Given the description of an element on the screen output the (x, y) to click on. 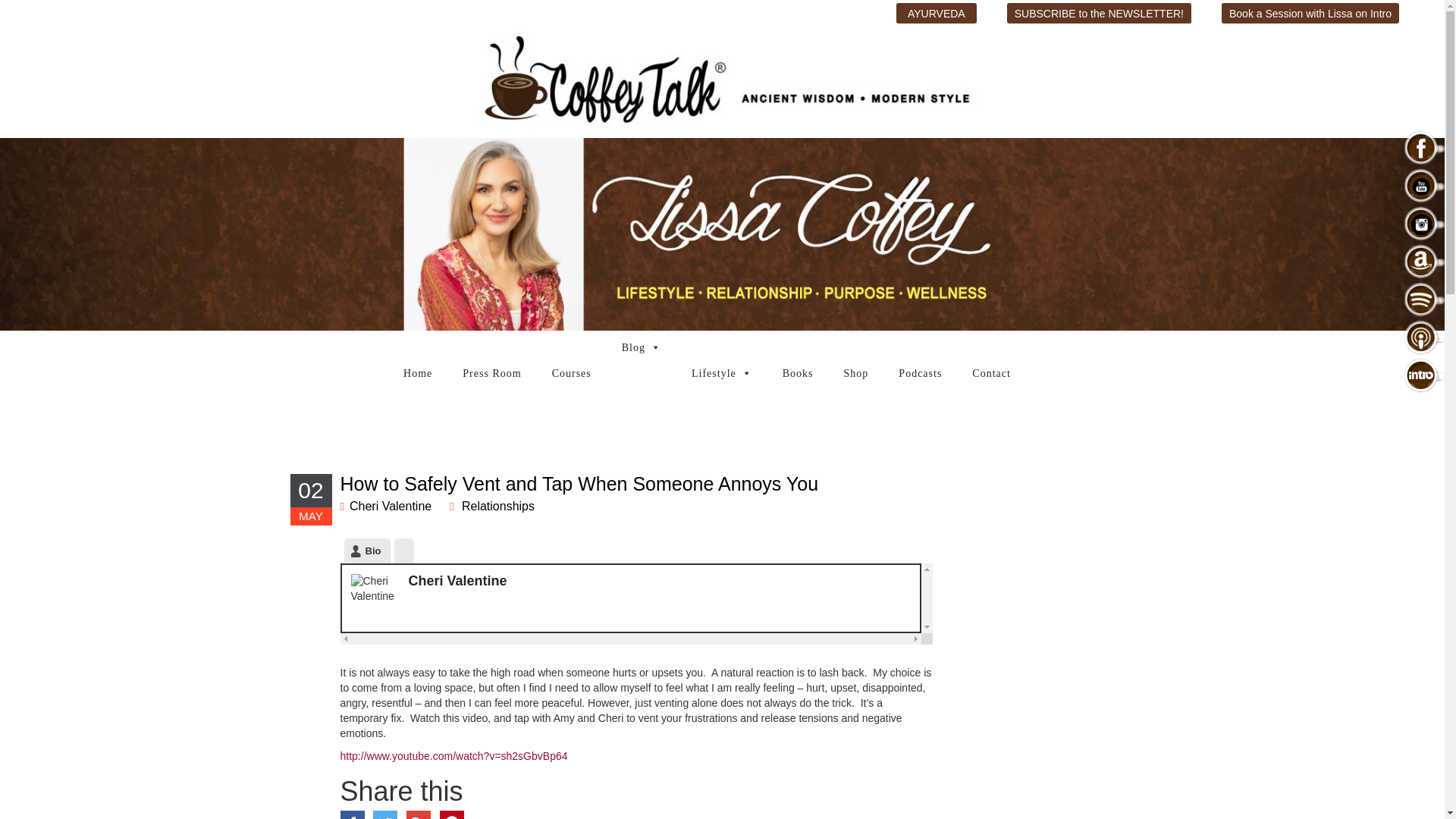
Blog (637, 347)
Courses (567, 373)
AYURVEDA (936, 13)
Press Room (487, 373)
Book a Session with Lissa on Intro (1310, 13)
SUBSCRIBE to the NEWSLETTER! (1099, 13)
Home (414, 373)
